Given the description of an element on the screen output the (x, y) to click on. 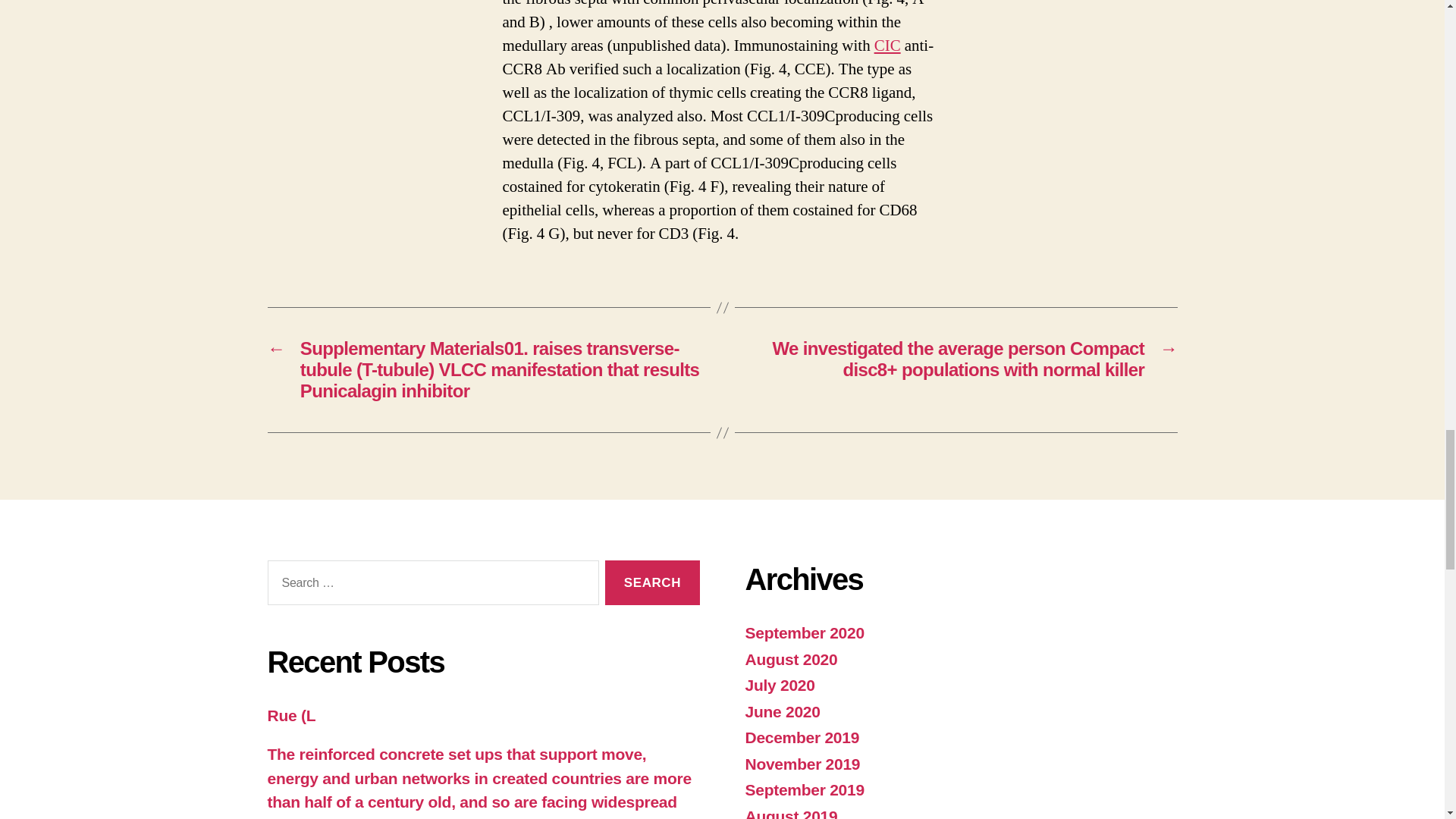
August 2020 (790, 659)
September 2019 (803, 789)
June 2020 (781, 711)
Search (651, 582)
August 2019 (790, 813)
Search (651, 582)
November 2019 (802, 764)
Search (651, 582)
CIC (888, 46)
December 2019 (801, 737)
September 2020 (803, 632)
July 2020 (778, 684)
